Given the description of an element on the screen output the (x, y) to click on. 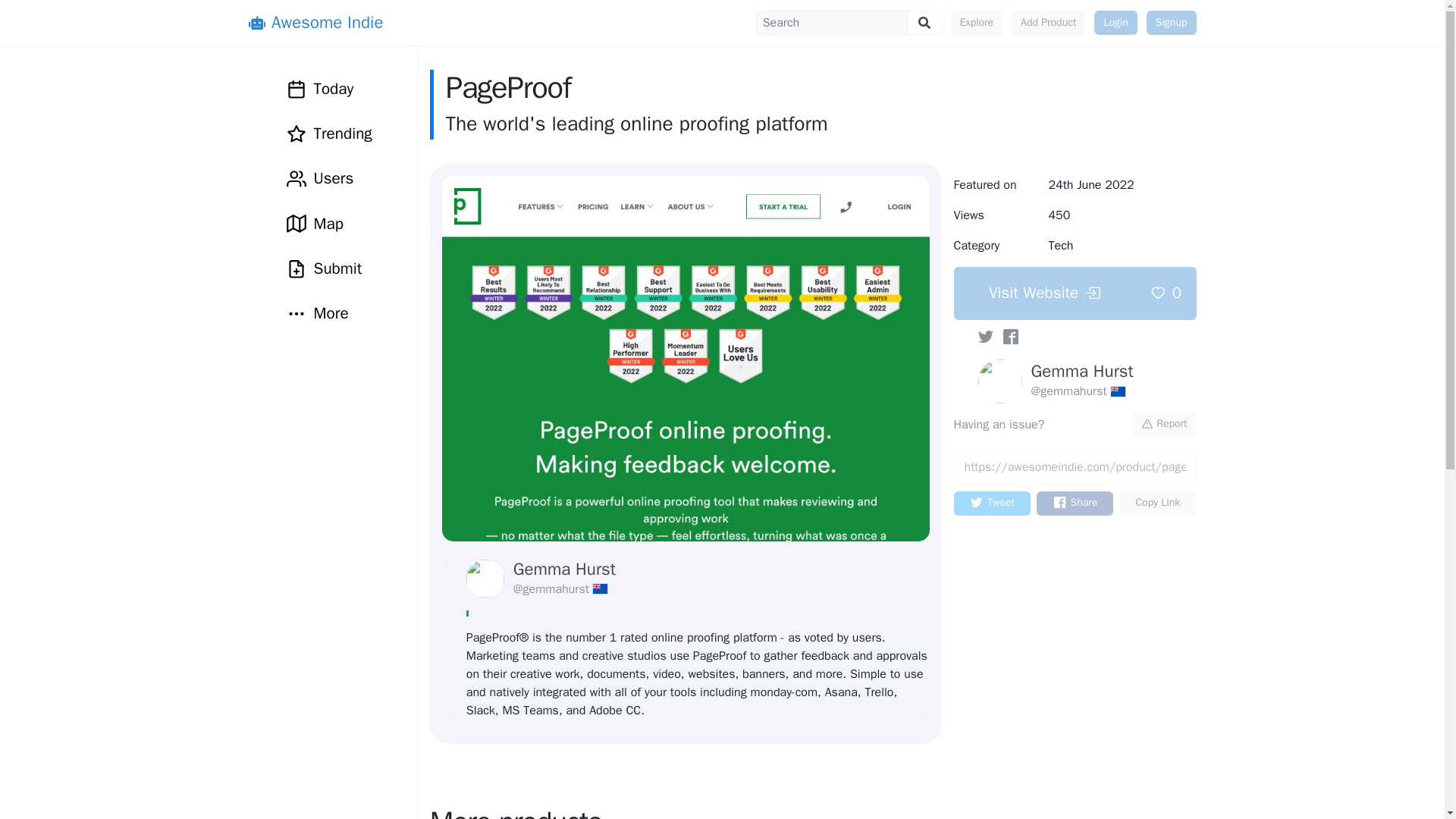
More (318, 313)
Share (1074, 503)
Login (1115, 22)
Awesome Indie (316, 22)
Tech (1060, 245)
PageProof on Facebook (1010, 336)
Copy Link (1157, 503)
Tweet (991, 503)
Report (1164, 424)
Visit Website (1044, 293)
Today (330, 88)
Submit (330, 268)
Explore (976, 22)
Map (330, 223)
0 (1165, 293)
